Given the description of an element on the screen output the (x, y) to click on. 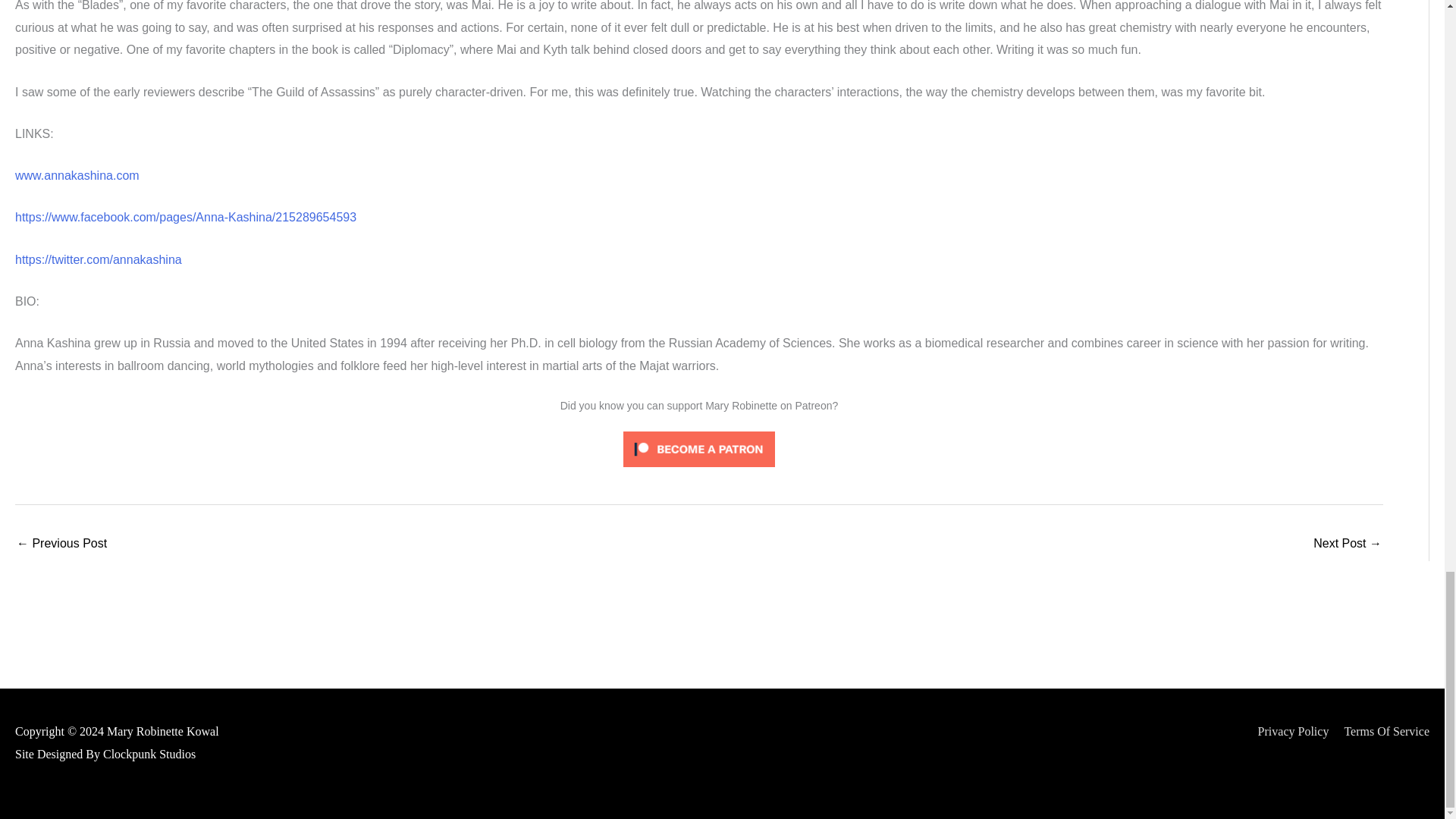
www.annakashina.com (76, 174)
Anna Kashina (76, 174)
Why I'm excited about UNCANNY MAGAZINE (1347, 544)
Twitter (98, 259)
Facebook (185, 216)
